Given the description of an element on the screen output the (x, y) to click on. 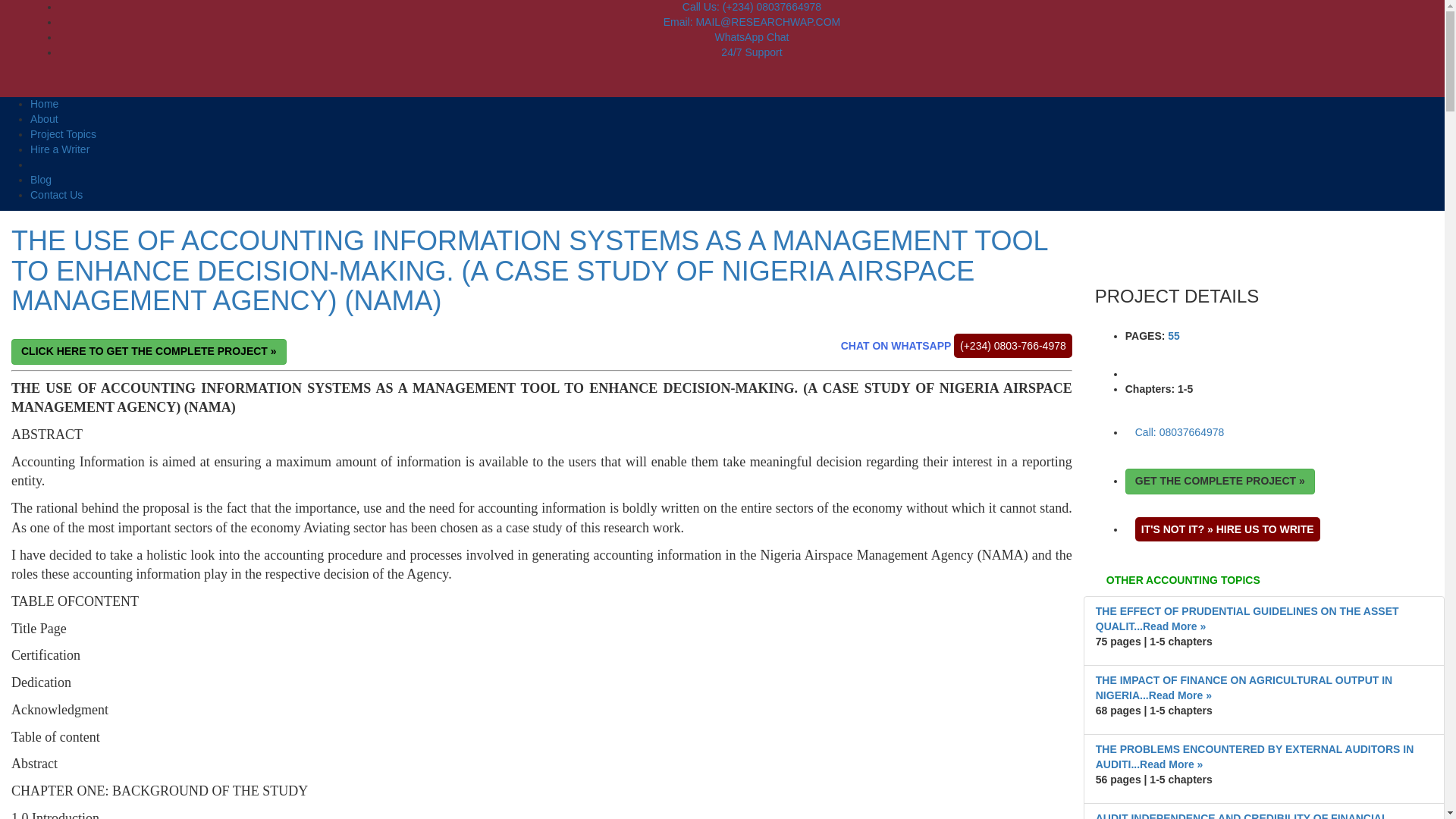
OTHER ACCOUNTING TOPICS (1263, 580)
Contact Us (56, 194)
Call: 08037664978 (1179, 432)
55 (1173, 336)
About (44, 119)
Project Topics (63, 133)
Blog (40, 179)
Hire a Writer (59, 149)
Home (44, 103)
WhatsApp Chat (751, 37)
